Given the description of an element on the screen output the (x, y) to click on. 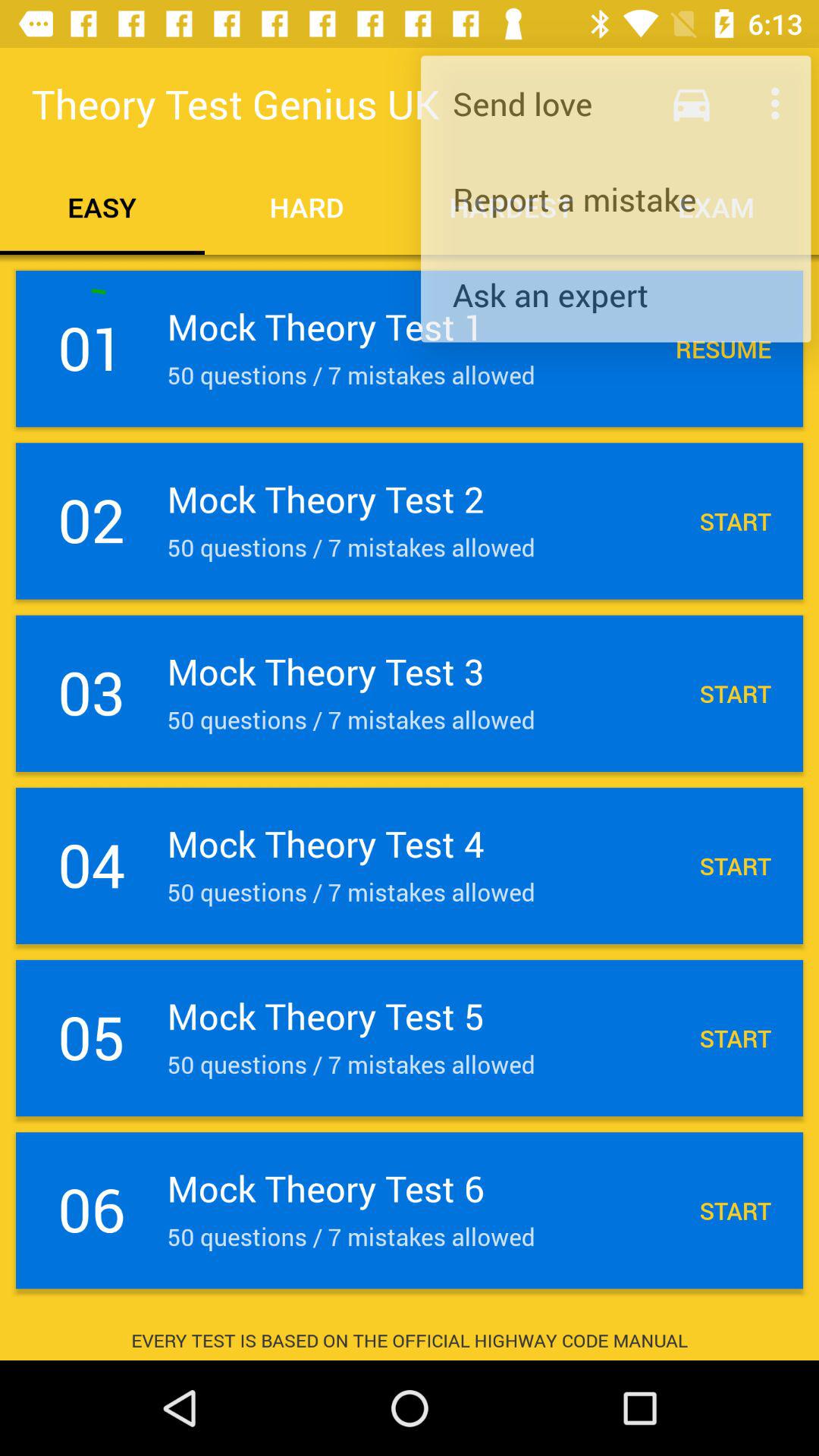
select option mock theory test 3 (409, 693)
select the symbol which is left to the option symbol (691, 103)
